Given the description of an element on the screen output the (x, y) to click on. 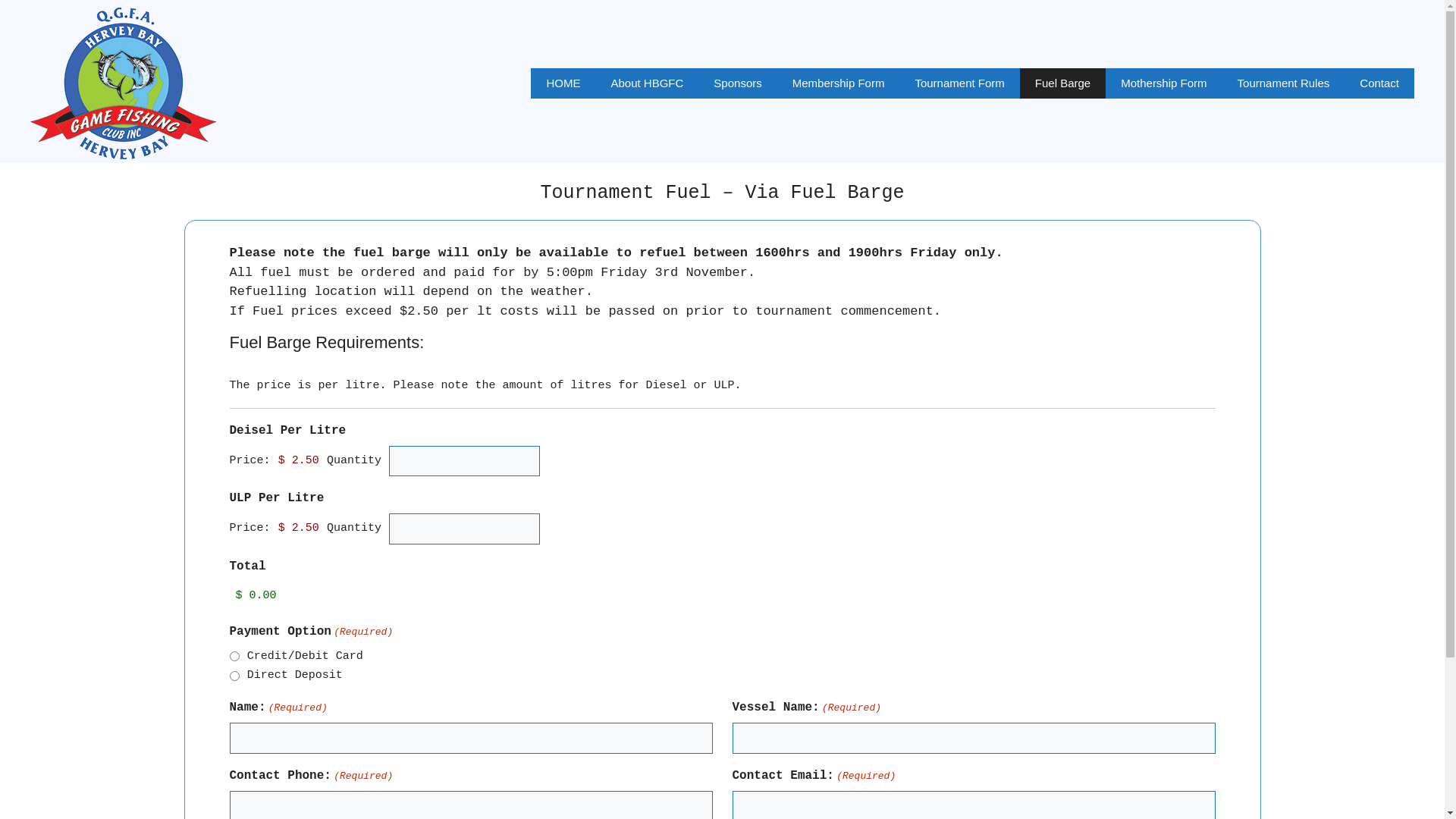
Membership Form Element type: text (838, 83)
Mothership Form Element type: text (1163, 83)
Contact Element type: text (1379, 83)
Sponsors Element type: text (737, 83)
Tournament Rules Element type: text (1283, 83)
HOME Element type: text (562, 83)
Fuel Barge Element type: text (1062, 83)
Tournament Form Element type: text (959, 83)
About HBGFC Element type: text (646, 83)
